Given the description of an element on the screen output the (x, y) to click on. 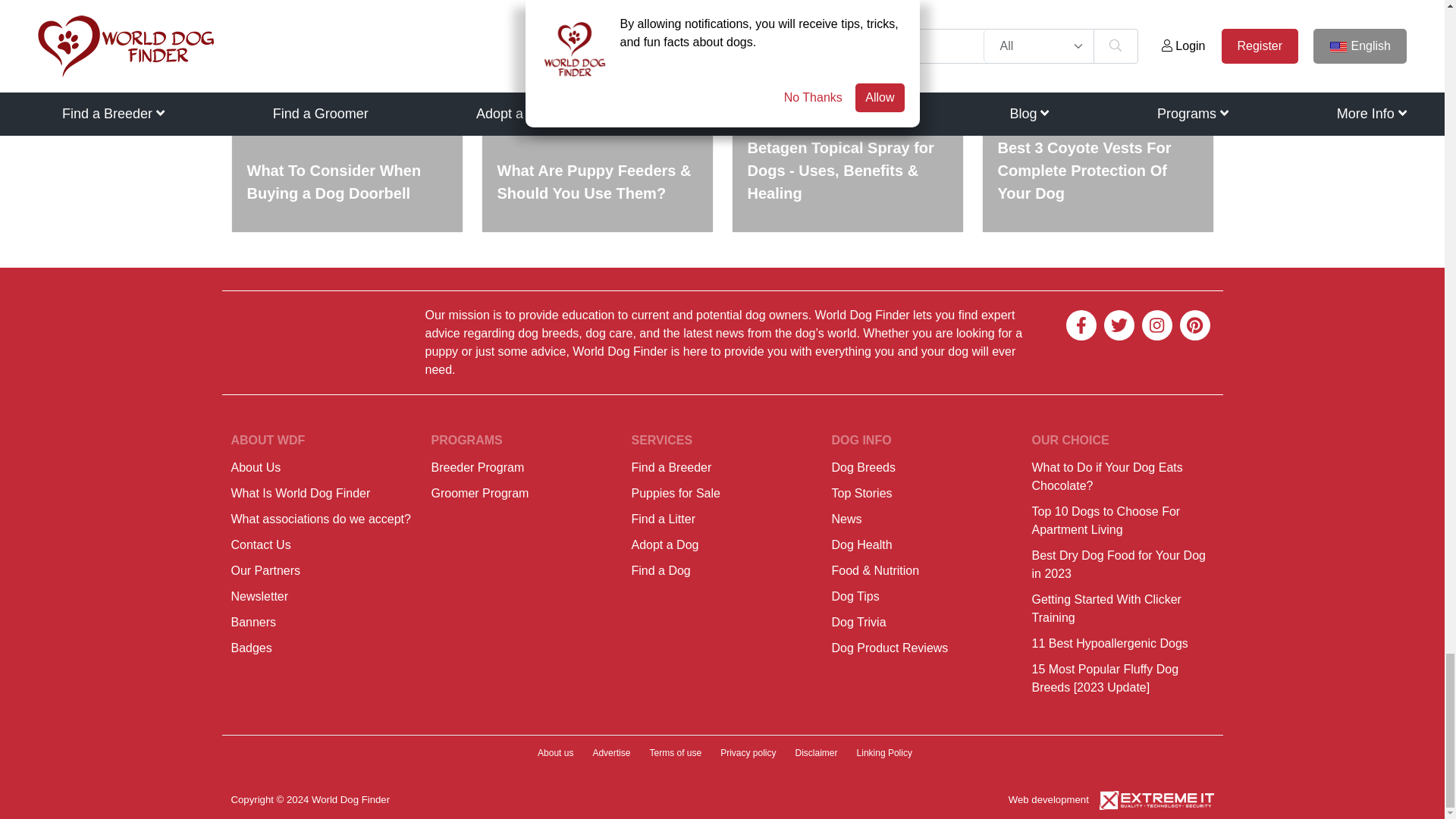
Share on pinterest (410, 13)
Tweet (365, 13)
Share on Facebook (319, 13)
Share (456, 13)
